Given the description of an element on the screen output the (x, y) to click on. 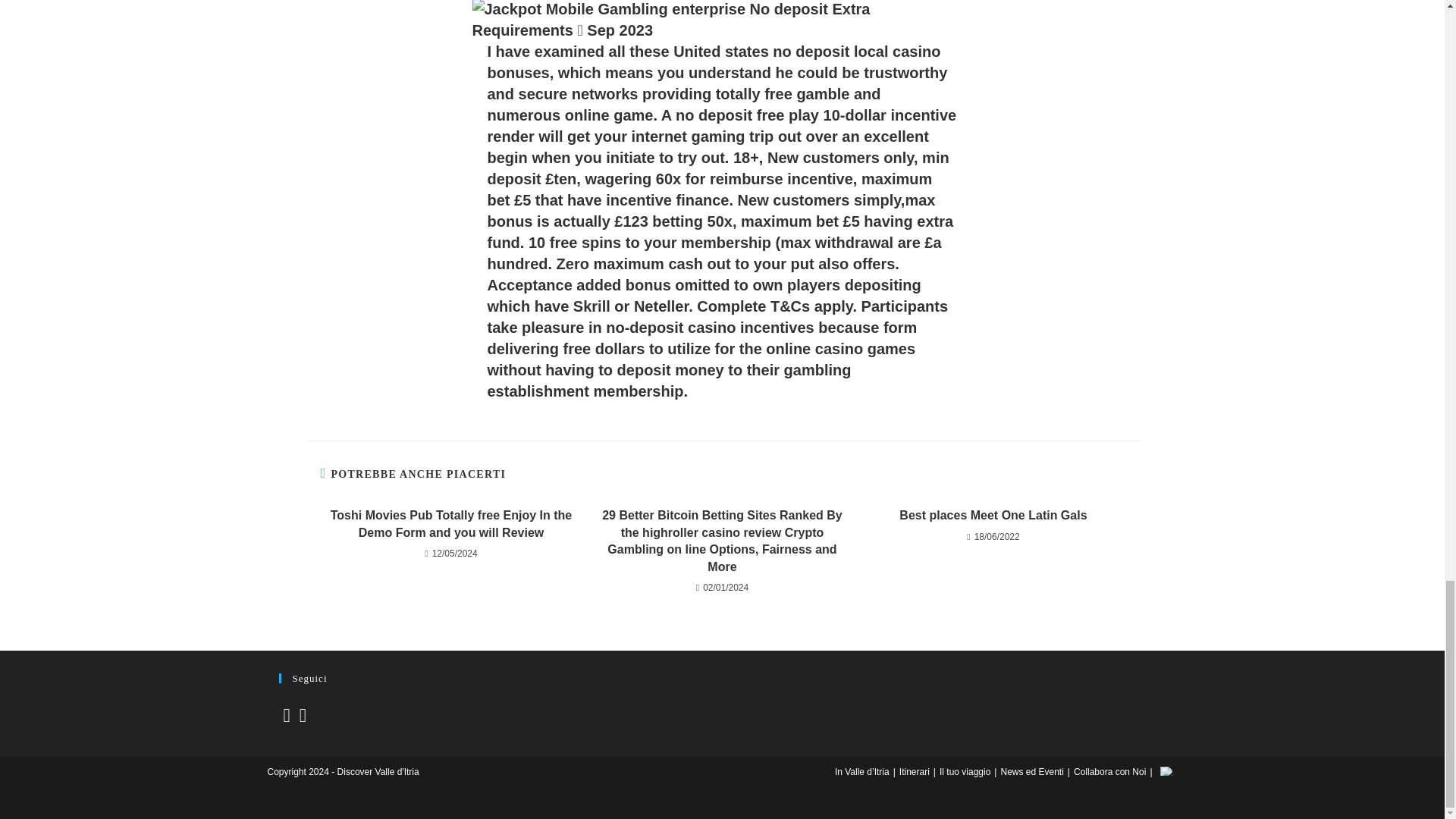
Best places Meet One Latin Gals (992, 515)
English (1166, 770)
